Given the description of an element on the screen output the (x, y) to click on. 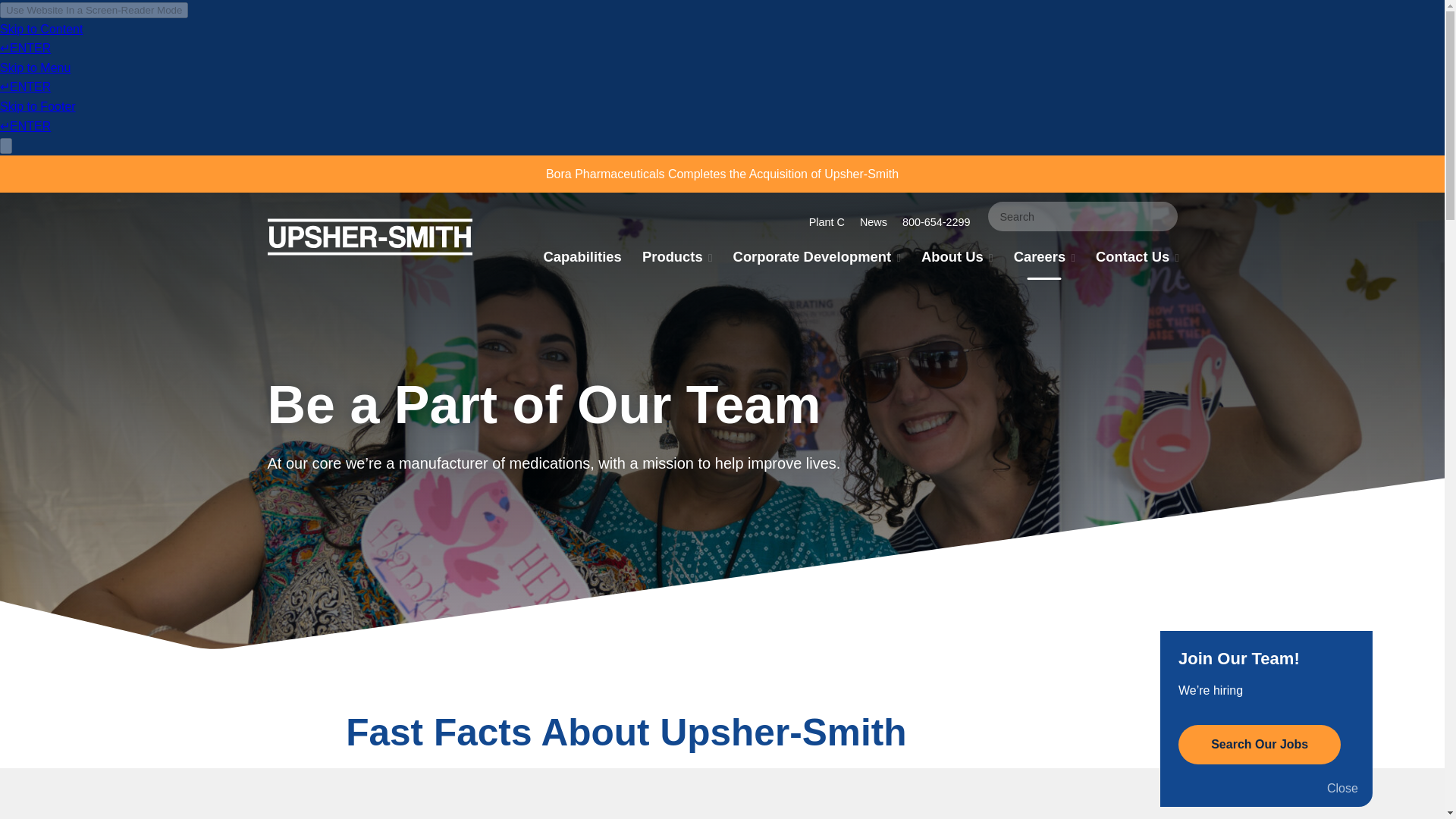
Submit Search (1167, 215)
Search (1081, 215)
Corporate Development (816, 258)
Products (676, 258)
Capabilities (581, 258)
